Given the description of an element on the screen output the (x, y) to click on. 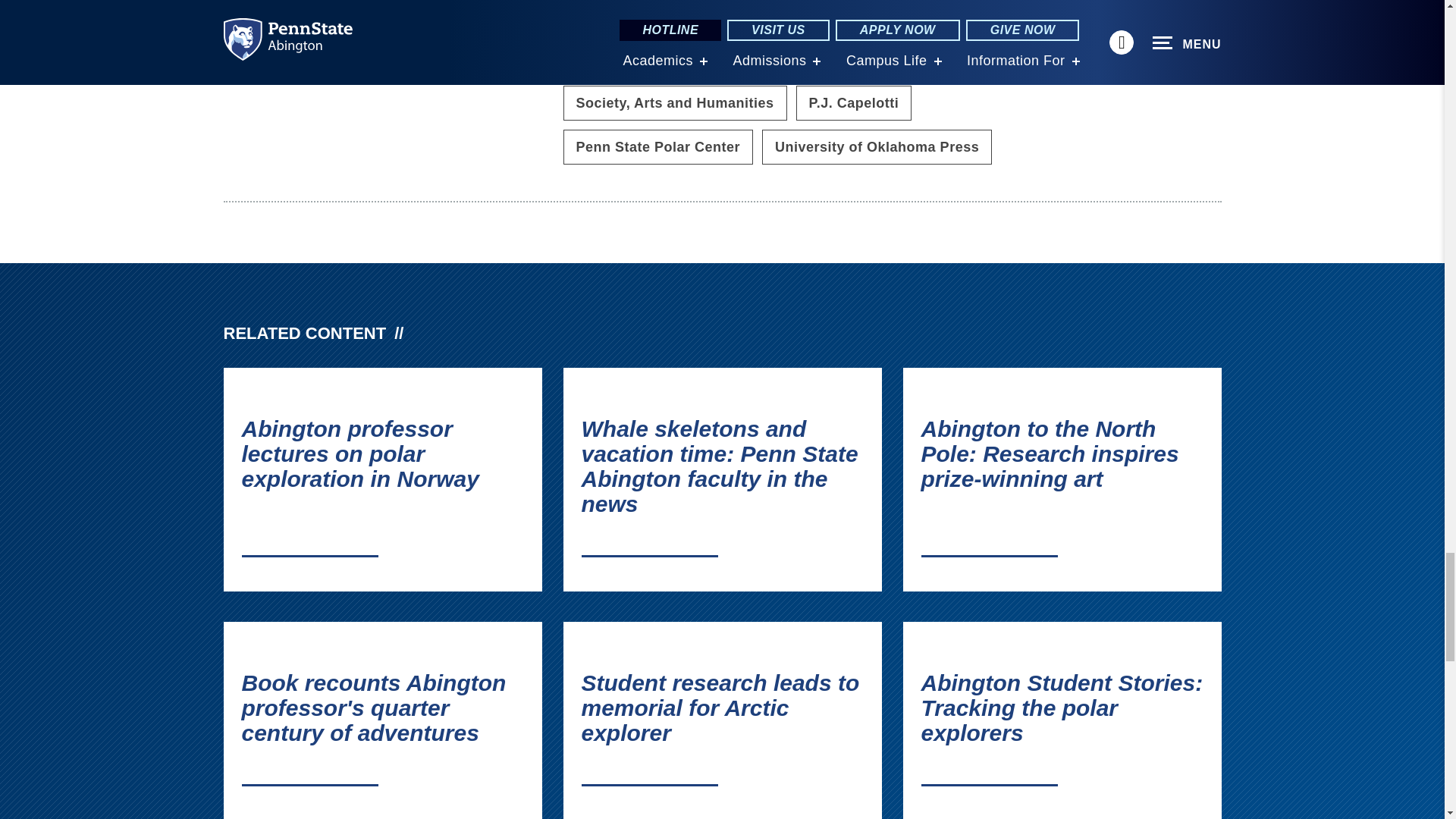
Content tagged with Impact (678, 58)
Content tagged with Faculty Achievement (950, 16)
Content tagged with P.J. Capelotti (854, 102)
Content tagged with Academics (612, 16)
Content tagged with Global (597, 58)
Content tagged with University of Oklahoma Press (876, 146)
Content tagged with Penn State Polar Center (657, 146)
Content tagged with Society and Culture (904, 58)
Content tagged with Society, Arts and Humanities (674, 102)
Content tagged with Earth and Environment (764, 16)
Content tagged with Research (768, 58)
